Given the description of an element on the screen output the (x, y) to click on. 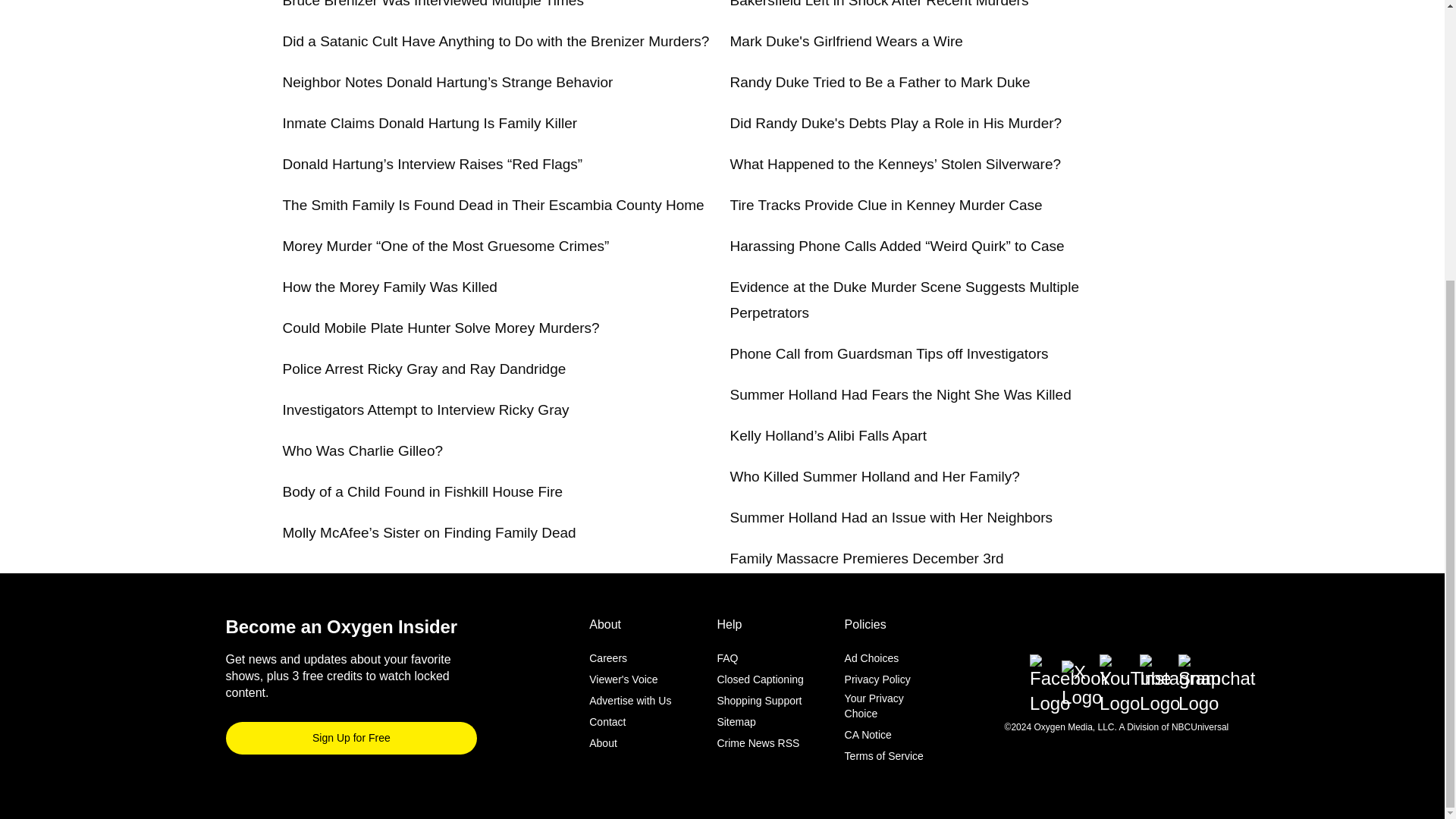
The Smith Family Is Found Dead in Their Escambia County Home (492, 204)
Investigators Attempt to Interview Ricky Gray (425, 409)
Who Was Charlie Gilleo? (362, 450)
Inmate Claims Donald Hartung Is Family Killer (429, 123)
Advertise with Us (630, 700)
Bruce Brenizer Was Interviewed Multiple Times (432, 4)
How the Morey Family Was Killed (389, 286)
Body of a Child Found in Fishkill House Fire (422, 491)
Could Mobile Plate Hunter Solve Morey Murders? (440, 327)
Police Arrest Ricky Gray and Ray Dandridge (424, 368)
